Given the description of an element on the screen output the (x, y) to click on. 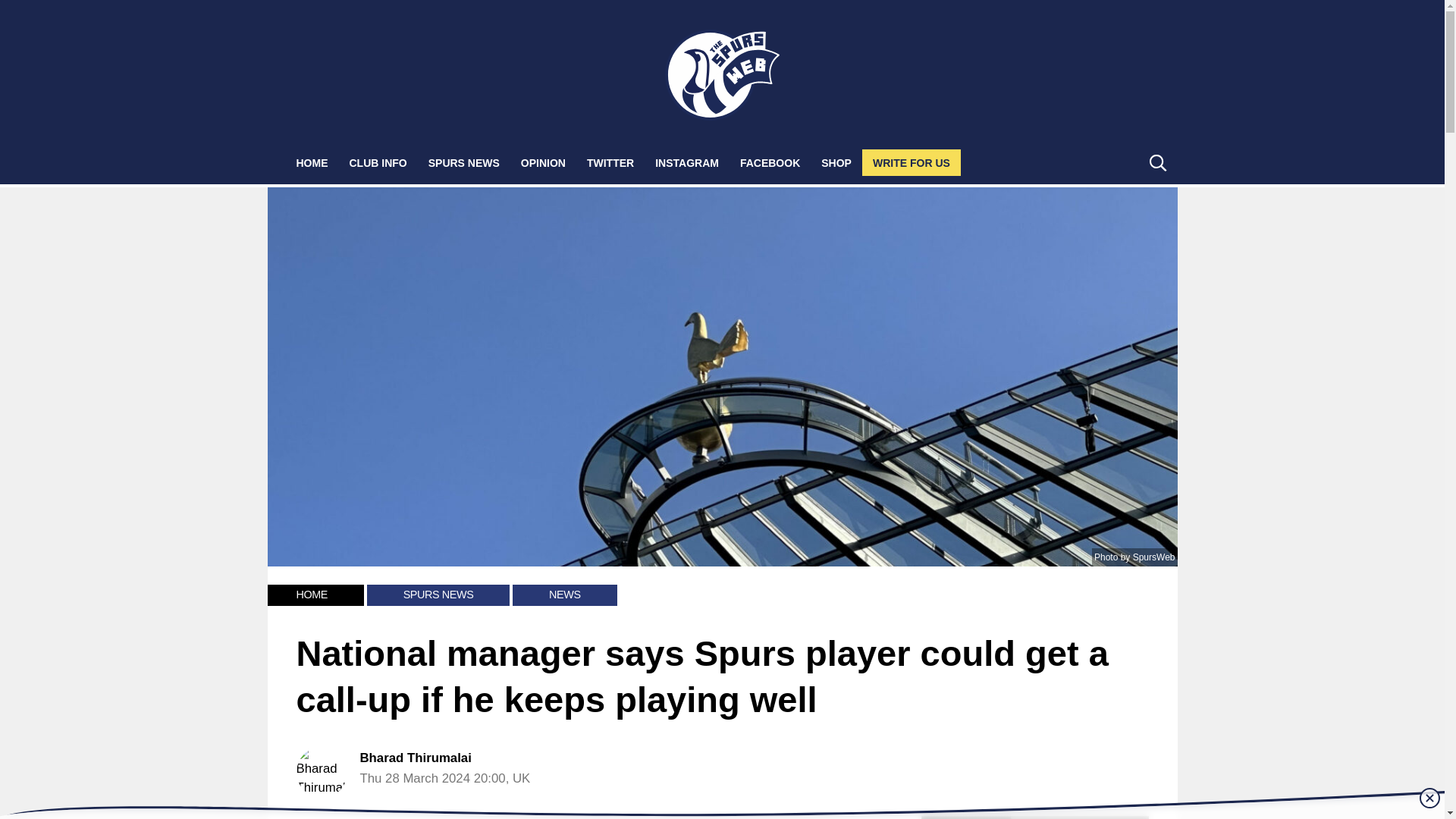
SHOP (835, 162)
TWITTER (610, 162)
INSTAGRAM (687, 162)
CLUB INFO (376, 162)
FACEBOOK (769, 162)
SPURS NEWS (438, 594)
HOME (311, 162)
OPINION (543, 162)
WRITE FOR US (910, 162)
Click here for more Spurs news from NewsNow (1034, 817)
SPURS NEWS (464, 162)
Bharad Thirumalai (414, 758)
NEWS (564, 594)
The Spurs Web - Tottenham Hotspur Football News (722, 73)
HOME (311, 594)
